Given the description of an element on the screen output the (x, y) to click on. 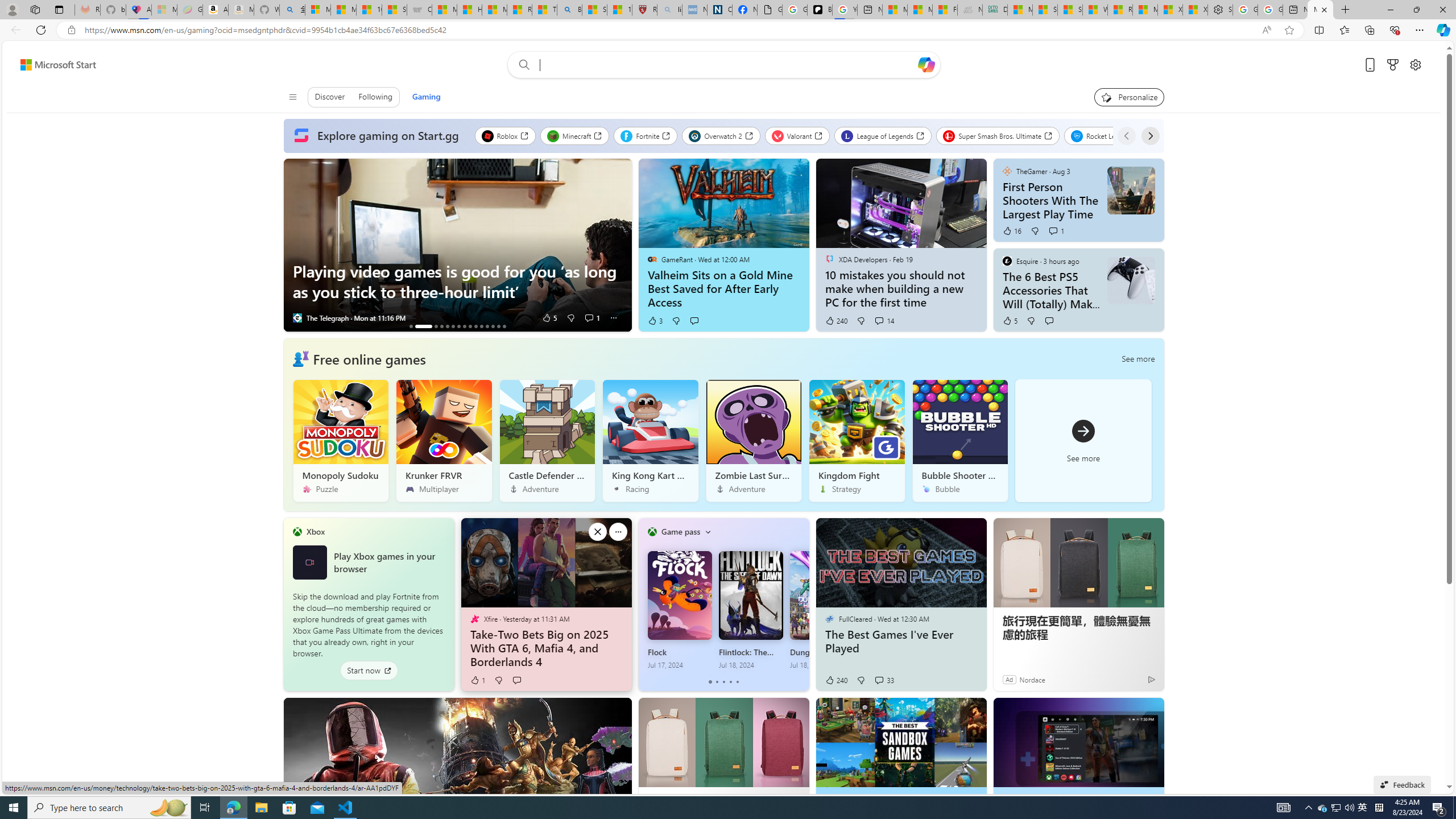
Monopoly Sudoku (340, 440)
16 Like (1011, 230)
AutomationID: casualCarouselIcon (300, 358)
XDA Developers (829, 258)
View comments 33 Comment (878, 679)
Address and search bar (669, 29)
Open Copilot (926, 64)
Microsoft Start (58, 64)
Esquire (1006, 260)
GameRant (651, 258)
Combat Siege (418, 9)
